Given the description of an element on the screen output the (x, y) to click on. 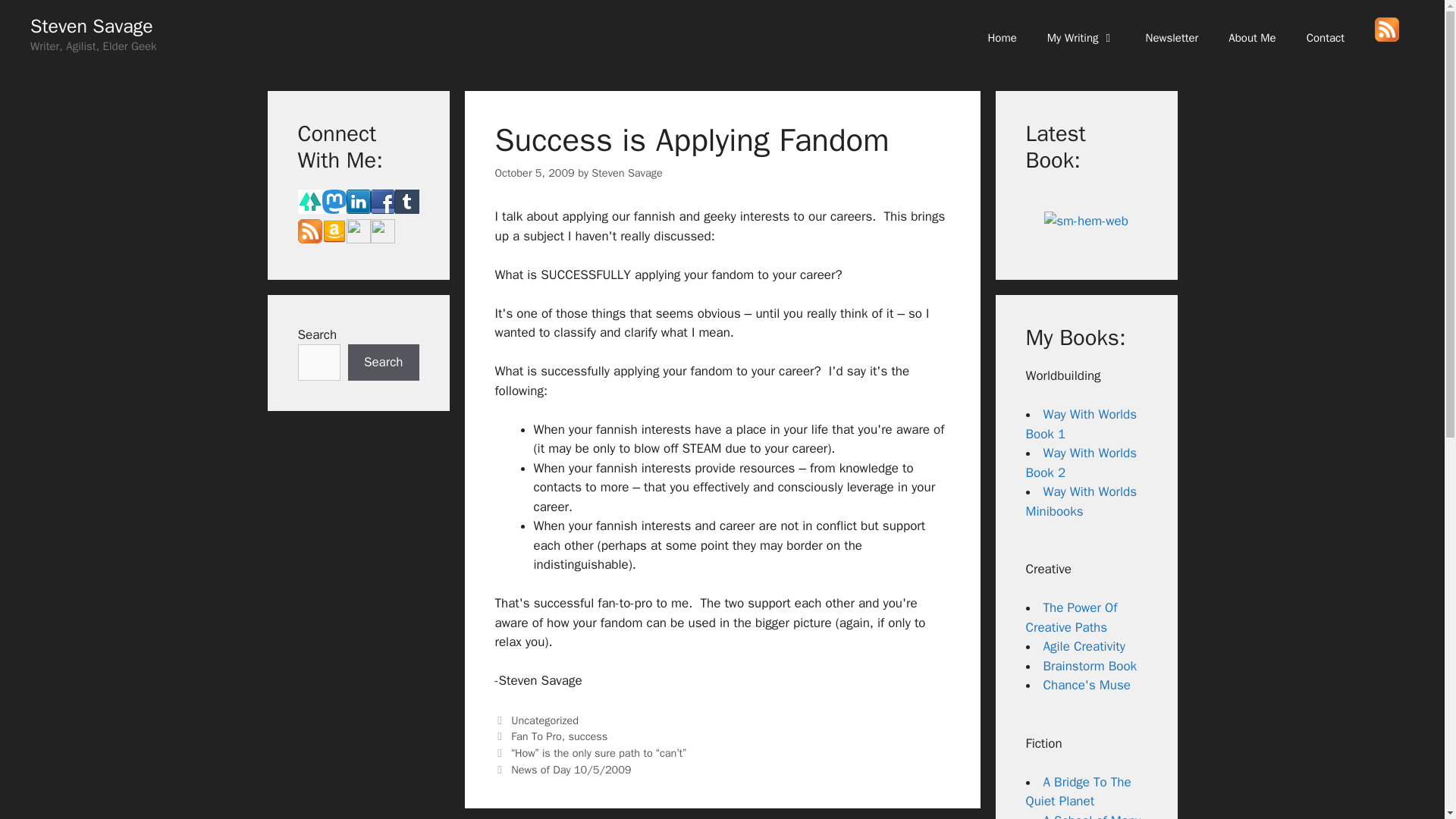
Way With Worlds Minibooks (1081, 501)
Newsletter (1172, 37)
Steven Savage (626, 172)
Agile Creativity (1084, 646)
Way With Worlds Book 1 (1081, 424)
Steven Savage (91, 25)
View all posts by Steven Savage (626, 172)
A School of Many Futures (1082, 816)
Home (1001, 37)
My Writing (1081, 37)
